Given the description of an element on the screen output the (x, y) to click on. 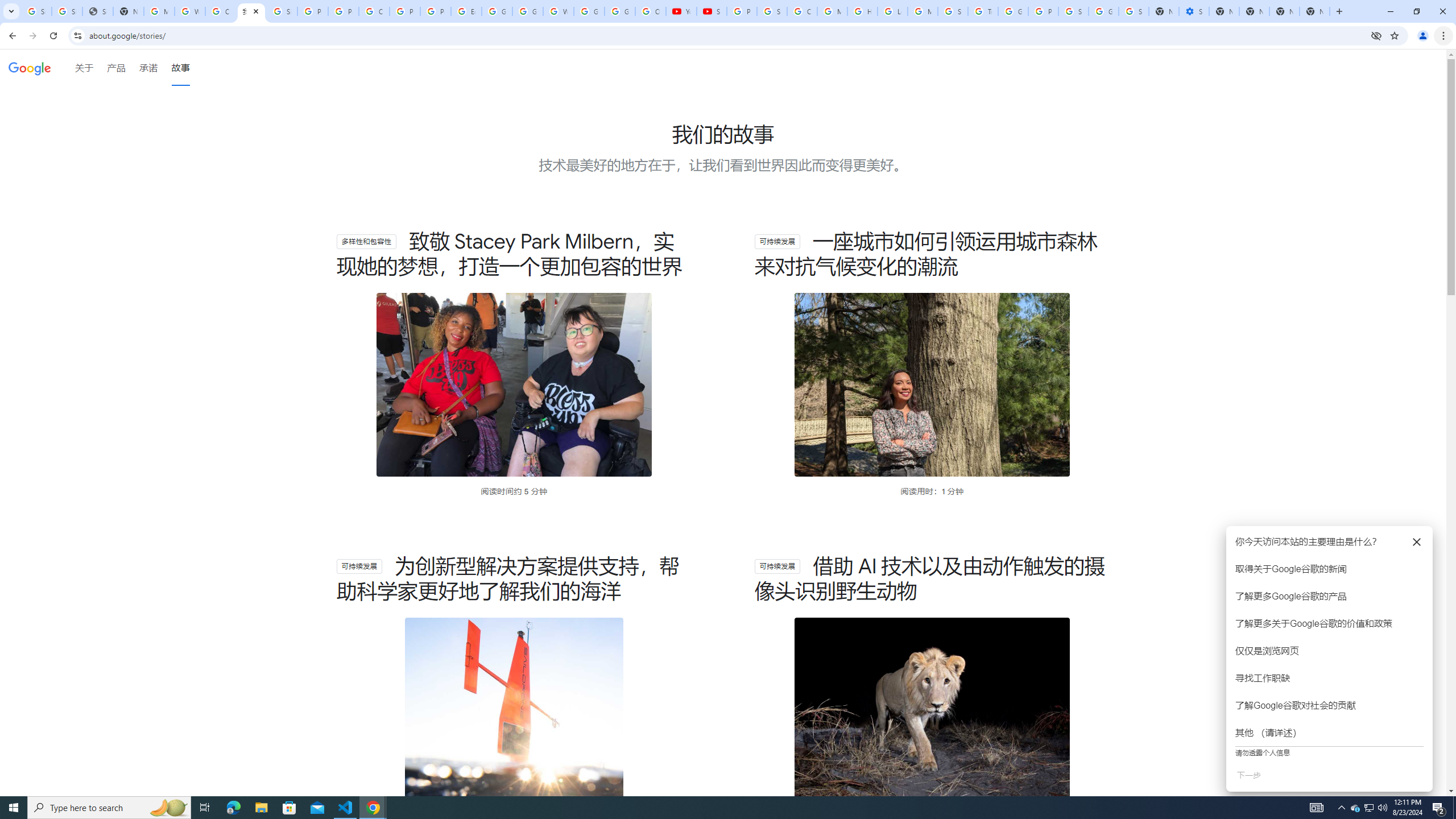
Search our Doodle Library Collection - Google Doodles (952, 11)
Sign in - Google Accounts (1072, 11)
Edit and view right-to-left text - Google Docs Editors Help (465, 11)
Google Slides: Sign-in (496, 11)
Google (29, 68)
Google Ads - Sign in (1012, 11)
